Given the description of an element on the screen output the (x, y) to click on. 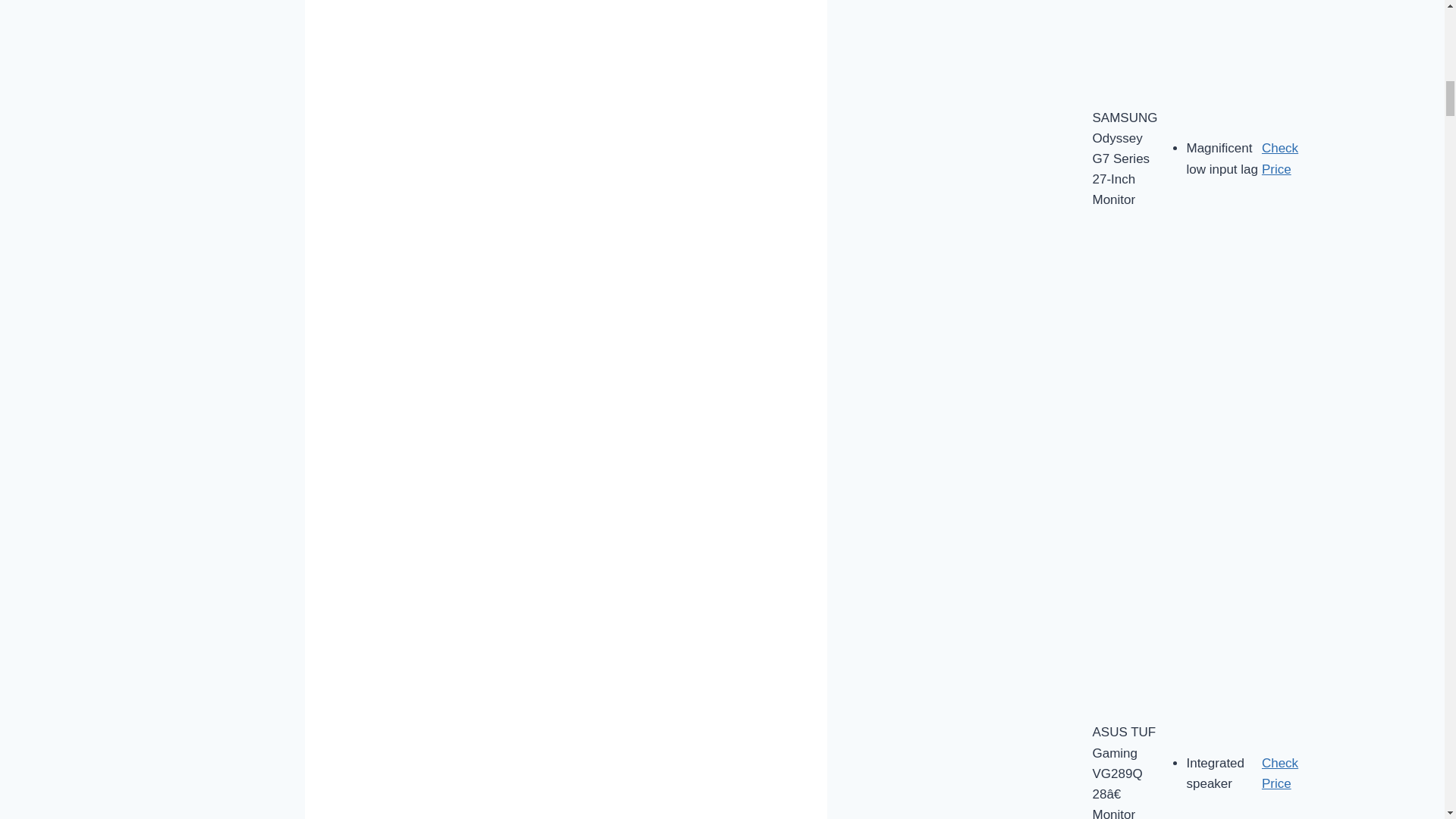
Check Price (1280, 773)
Check Price (1280, 158)
